Given the description of an element on the screen output the (x, y) to click on. 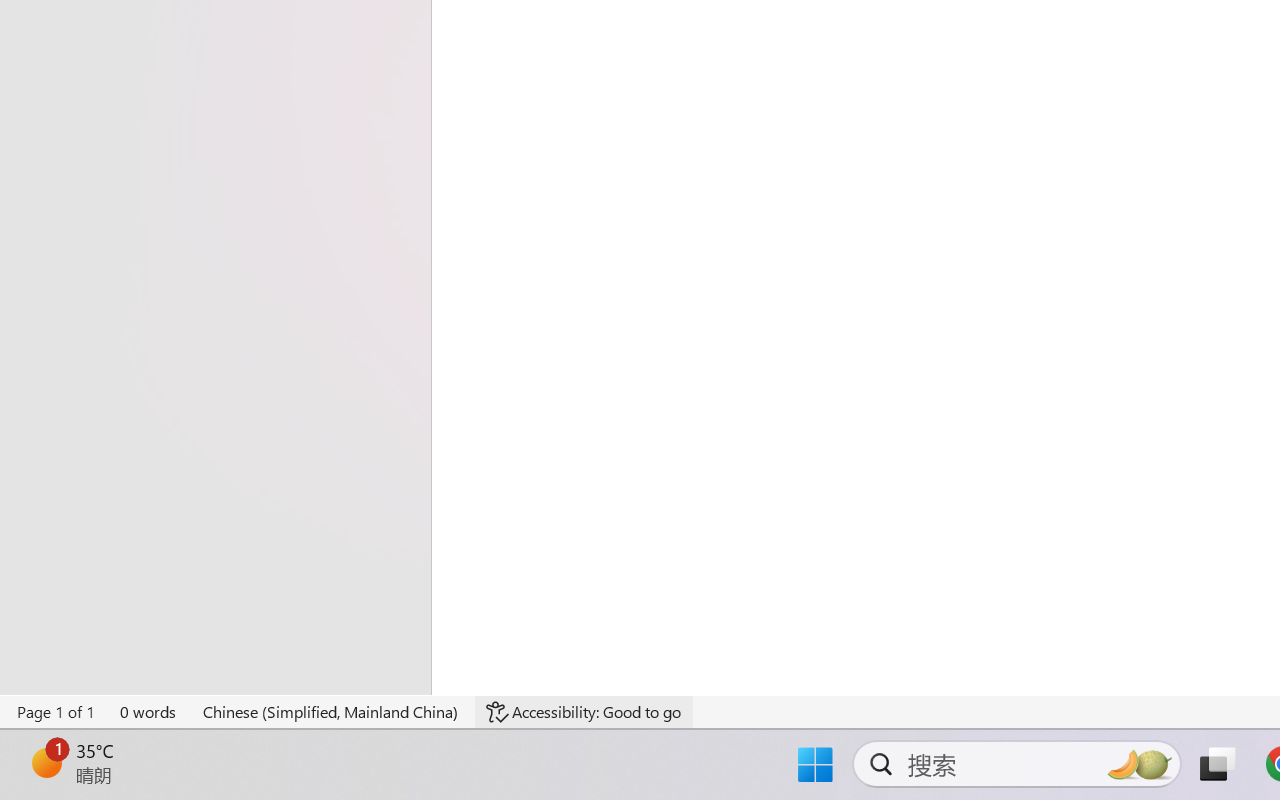
Language Chinese (Simplified, Mainland China) (331, 712)
